Given the description of an element on the screen output the (x, y) to click on. 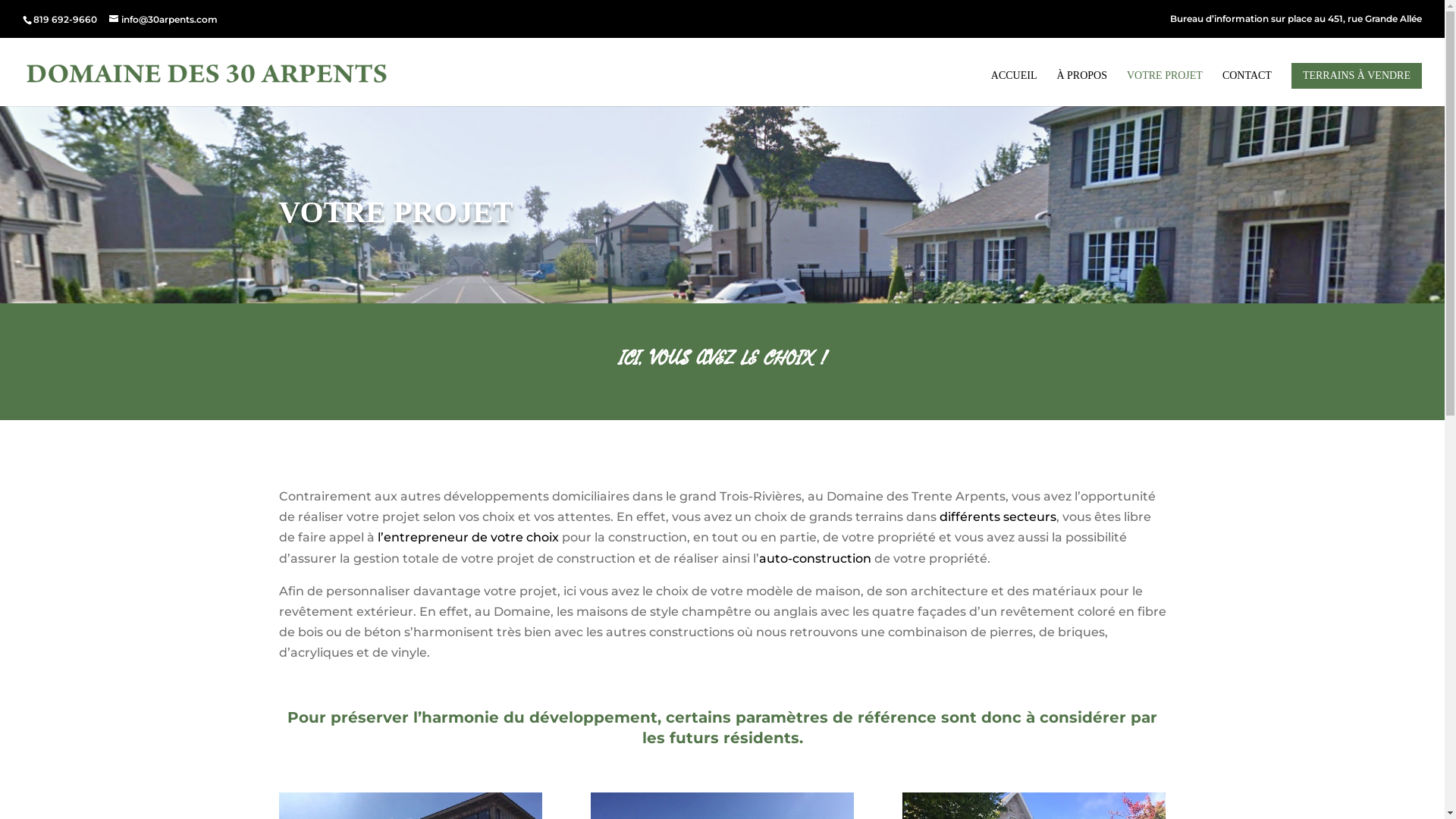
info@30arpents.com Element type: text (163, 19)
VOTRE PROJET Element type: text (1164, 88)
CONTACT Element type: text (1246, 88)
ACCUEIL Element type: text (1014, 88)
819 692-9660 Element type: text (65, 19)
